Given the description of an element on the screen output the (x, y) to click on. 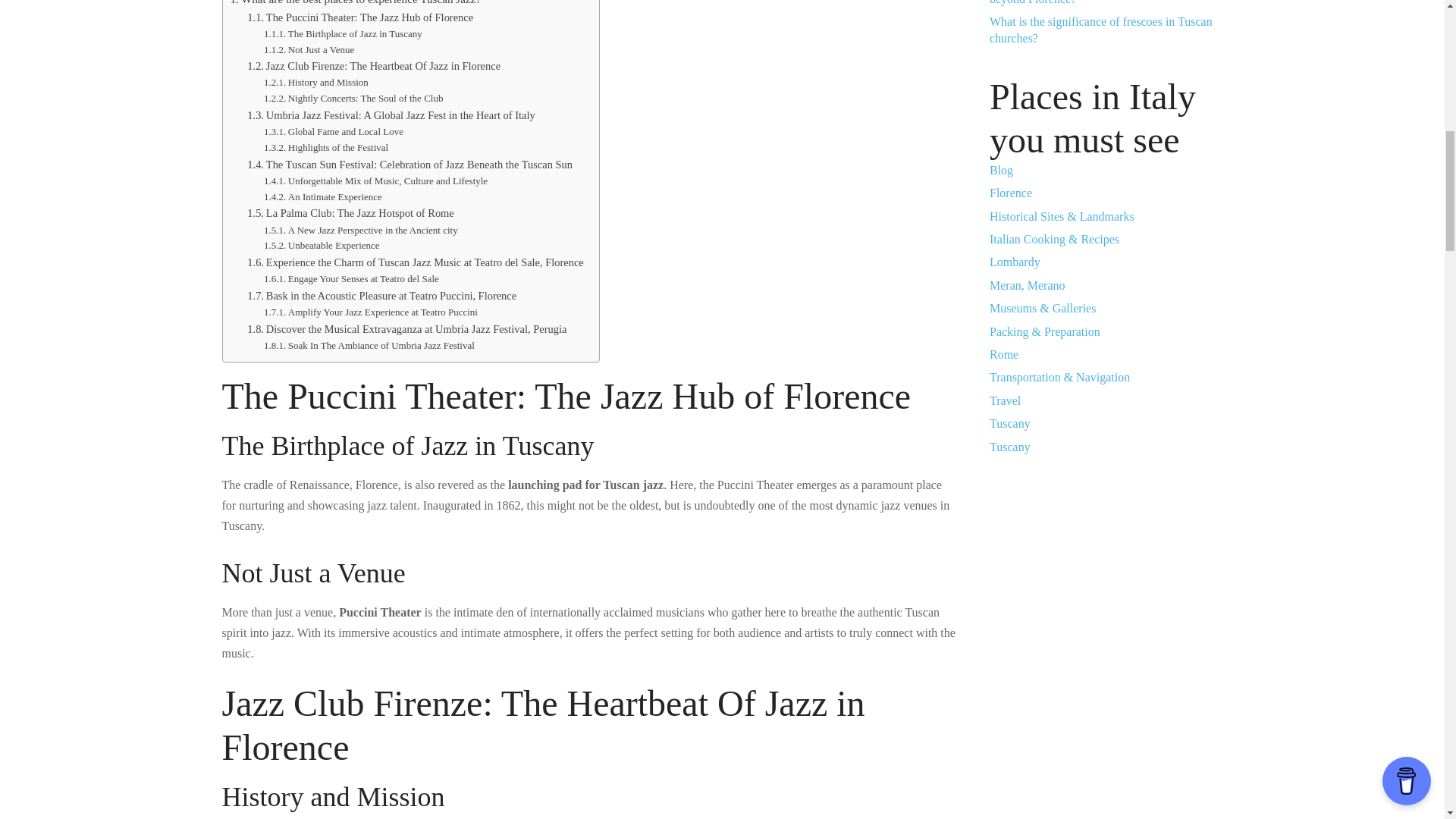
An Intimate Experience (322, 197)
Unforgettable Mix of Music, Culture and Lifestyle (375, 181)
What are the best places to experience Tuscan Jazz? (355, 4)
Highlights of the Festival (325, 148)
Engage Your Senses at Teatro del Sale (351, 279)
Unforgettable Mix of Music, Culture and Lifestyle (375, 181)
Unbeatable Experience (321, 245)
Not Just a Venue (308, 50)
The Puccini Theater: The Jazz Hub of Florence (360, 17)
Global Fame and Local Love (333, 132)
The Puccini Theater: The Jazz Hub of Florence (360, 17)
Nightly Concerts: The Soul of the Club (352, 98)
